Given the description of an element on the screen output the (x, y) to click on. 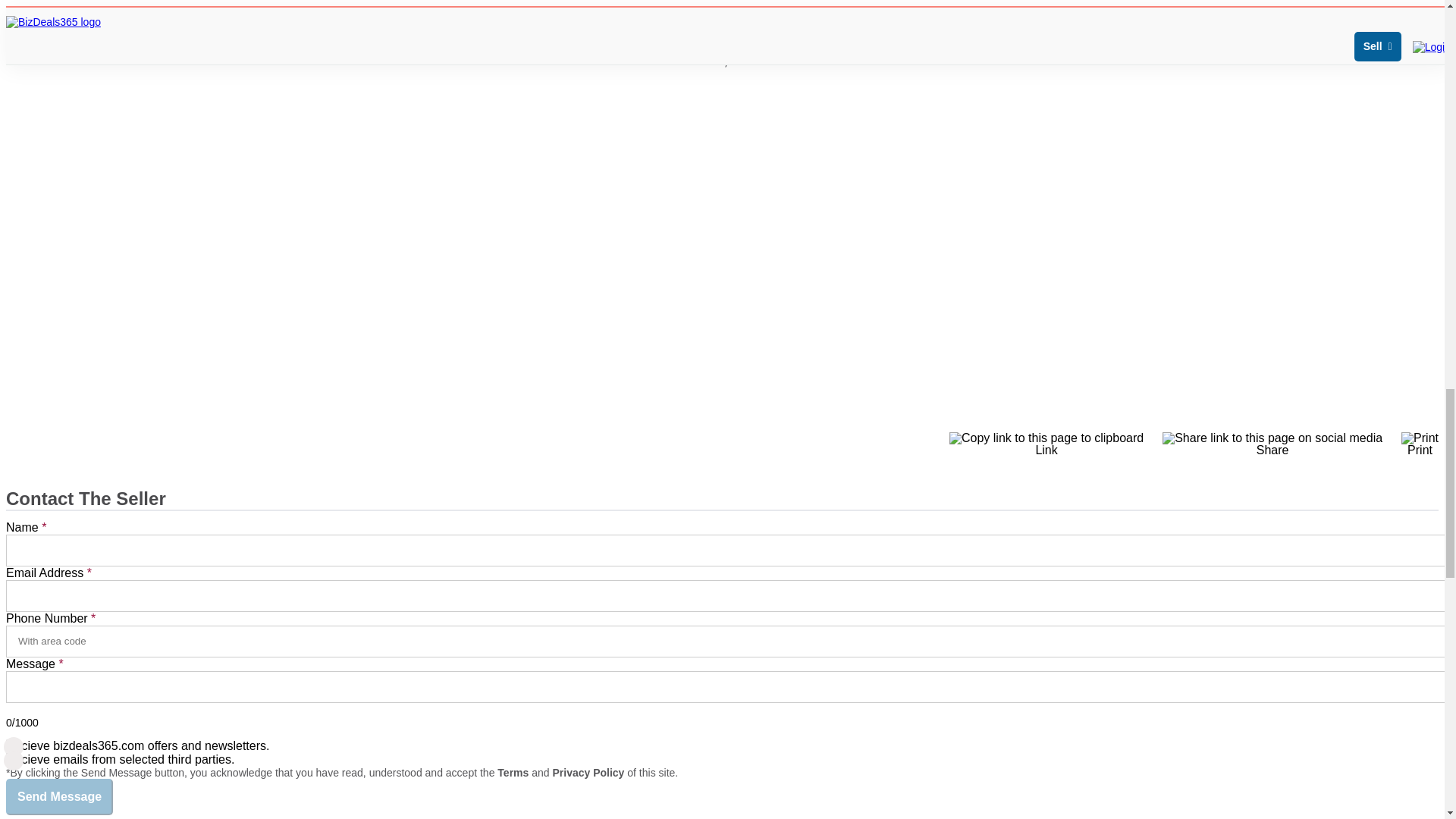
on (10, 757)
Print (1419, 444)
on (10, 744)
Copy link to this page (1045, 444)
Send Message (59, 796)
Share (1271, 444)
